Given the description of an element on the screen output the (x, y) to click on. 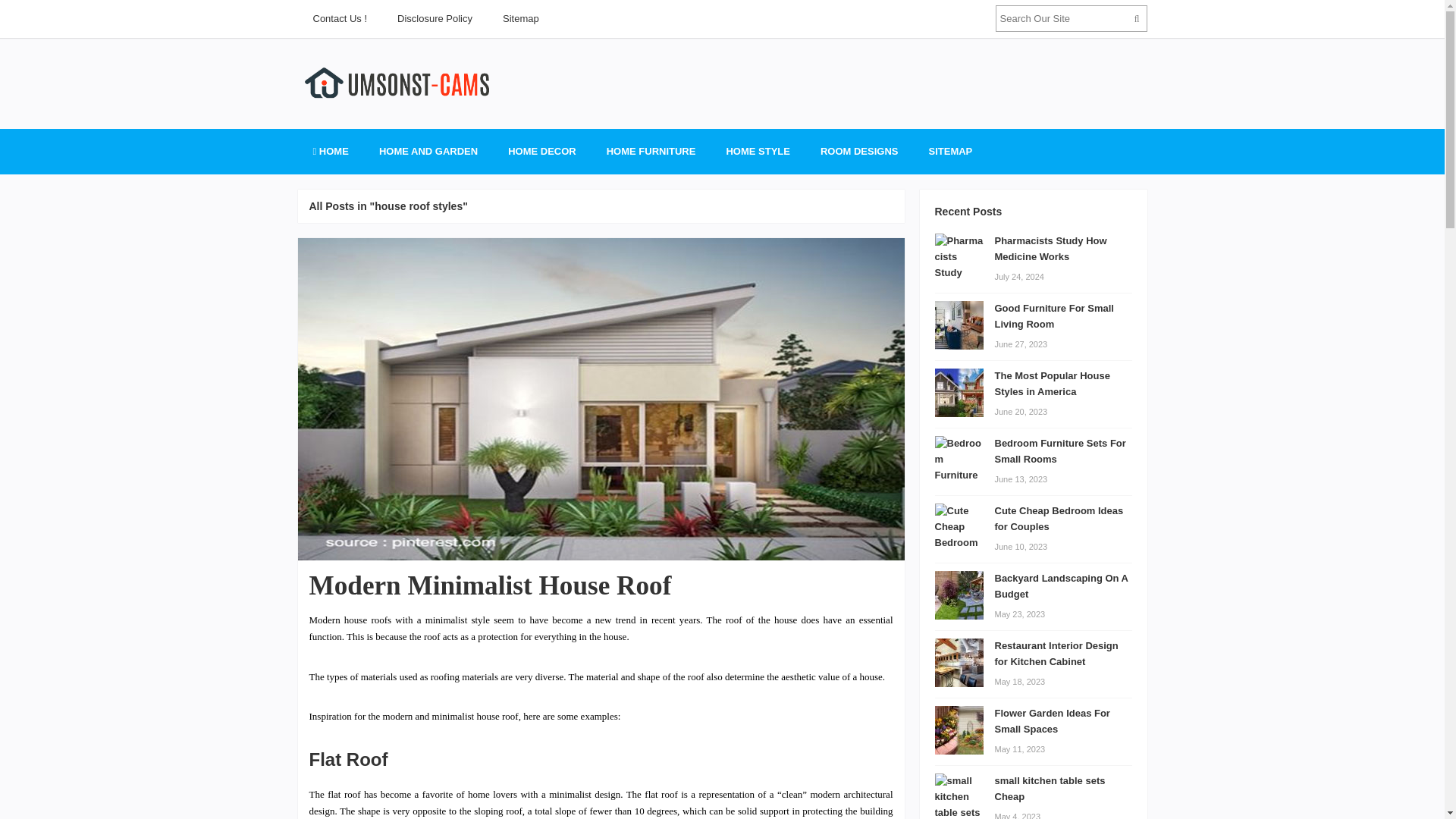
HOME FURNITURE (651, 151)
SITEMAP (949, 151)
Modern Minimalist House Roof (489, 585)
Contact Us ! (339, 18)
Disclosure Policy (434, 18)
HOME AND GARDEN (428, 151)
HOME DECOR (542, 151)
Sitemap (520, 18)
ROOM DESIGNS (859, 151)
HOME STYLE (757, 151)
HOME (329, 151)
